Given the description of an element on the screen output the (x, y) to click on. 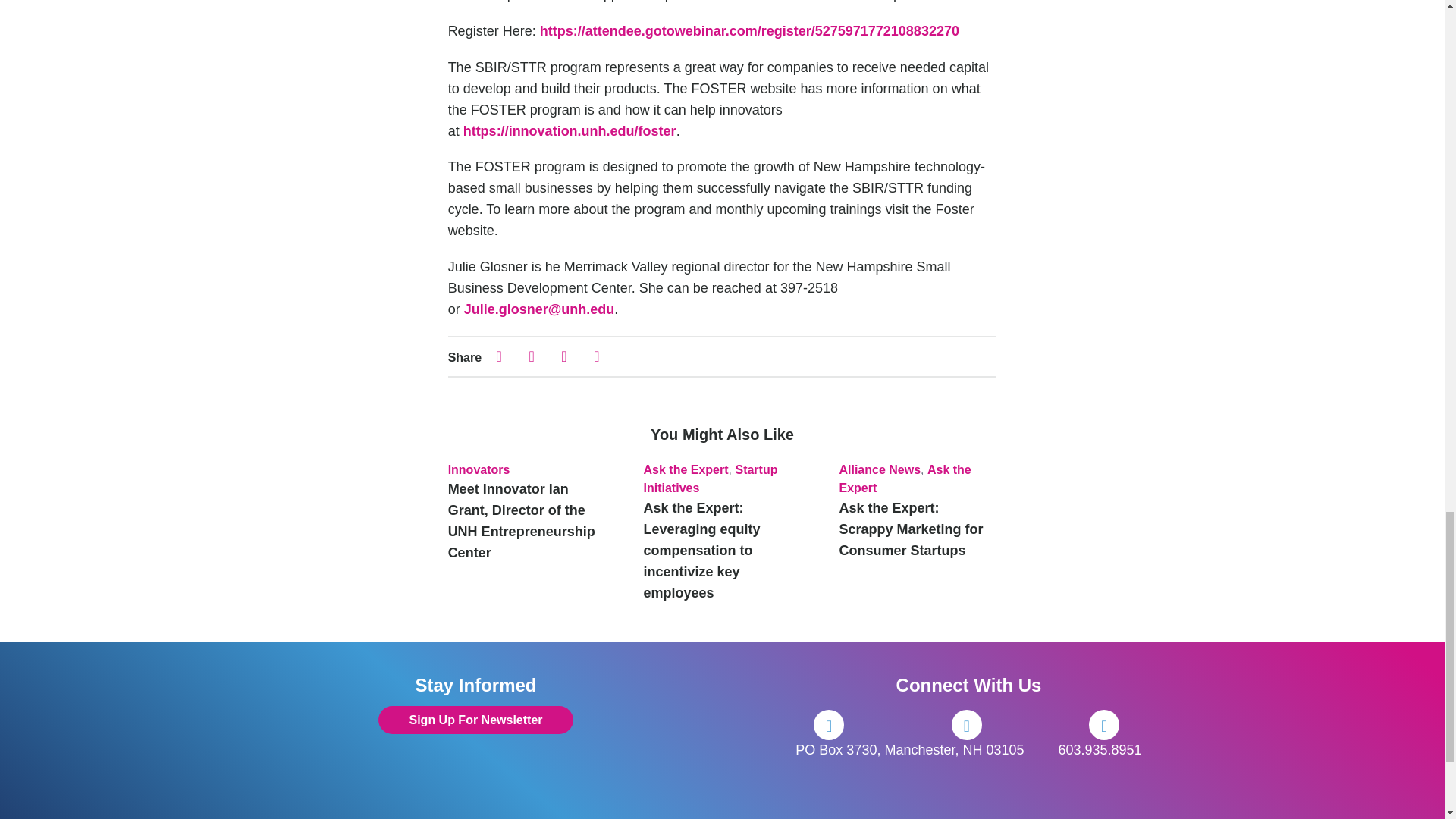
Facebook (828, 725)
LinkedIn (1104, 725)
Twitter (966, 725)
